Given the description of an element on the screen output the (x, y) to click on. 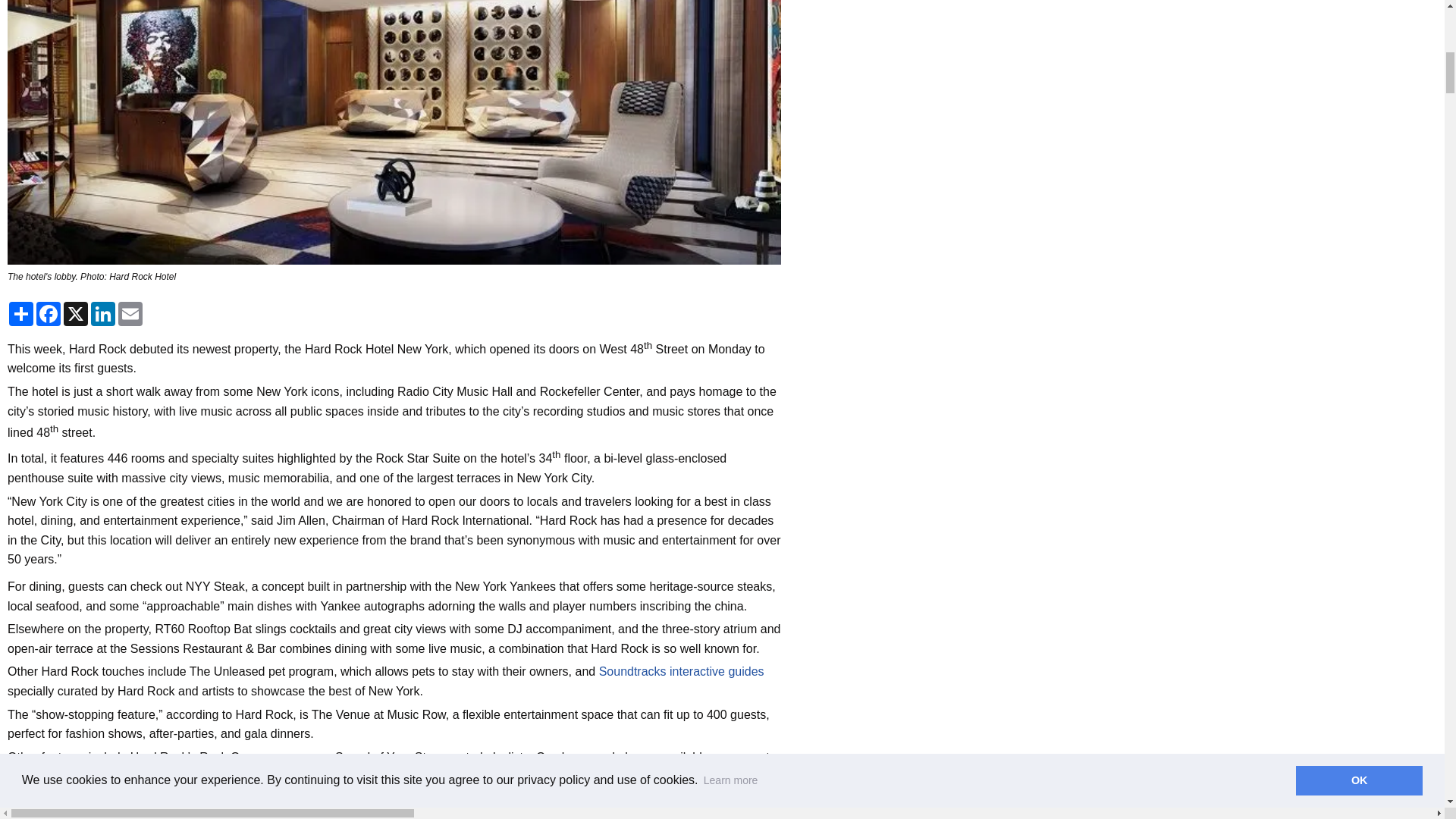
Facebook (48, 313)
Soundtracks interactive guides (681, 671)
Facebook (48, 812)
X (75, 812)
Email (130, 812)
Share (20, 313)
LinkedIn (102, 812)
LinkedIn (102, 313)
Share (20, 812)
Email (130, 313)
X (75, 313)
